Given the description of an element on the screen output the (x, y) to click on. 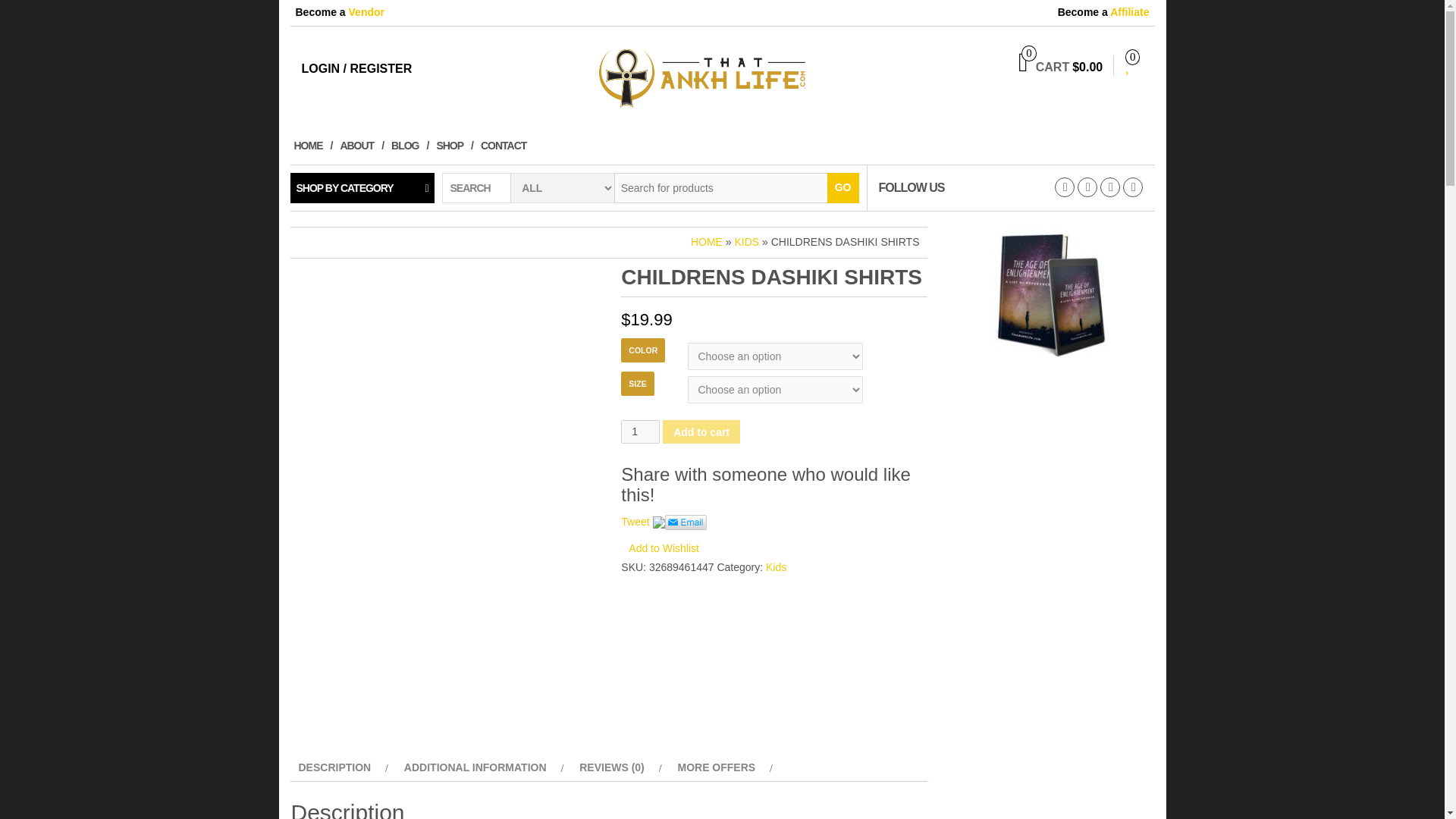
Affiliate (1128, 11)
SHOP BY CATEGORY (361, 187)
That Ankh Life (721, 76)
BLOG (409, 145)
Contact (507, 145)
Home (312, 145)
1 (640, 431)
Vendor (366, 11)
Shop (454, 145)
SHOP (454, 145)
Blog (409, 145)
ABOUT (361, 145)
View your shopping cart (1059, 67)
About (361, 145)
CONTACT (507, 145)
